Given the description of an element on the screen output the (x, y) to click on. 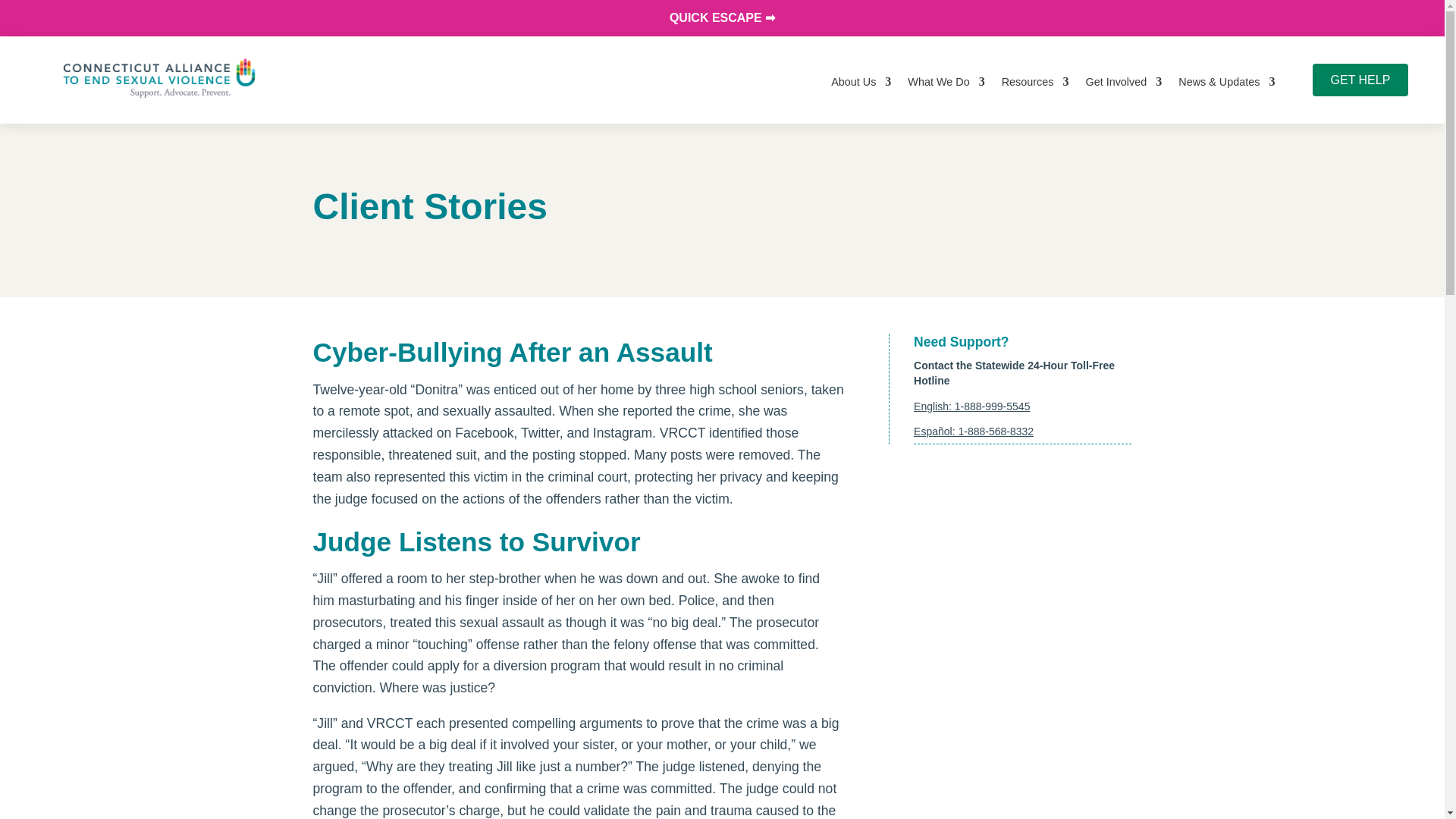
What We Do (945, 81)
Resources (1034, 81)
